Given the description of an element on the screen output the (x, y) to click on. 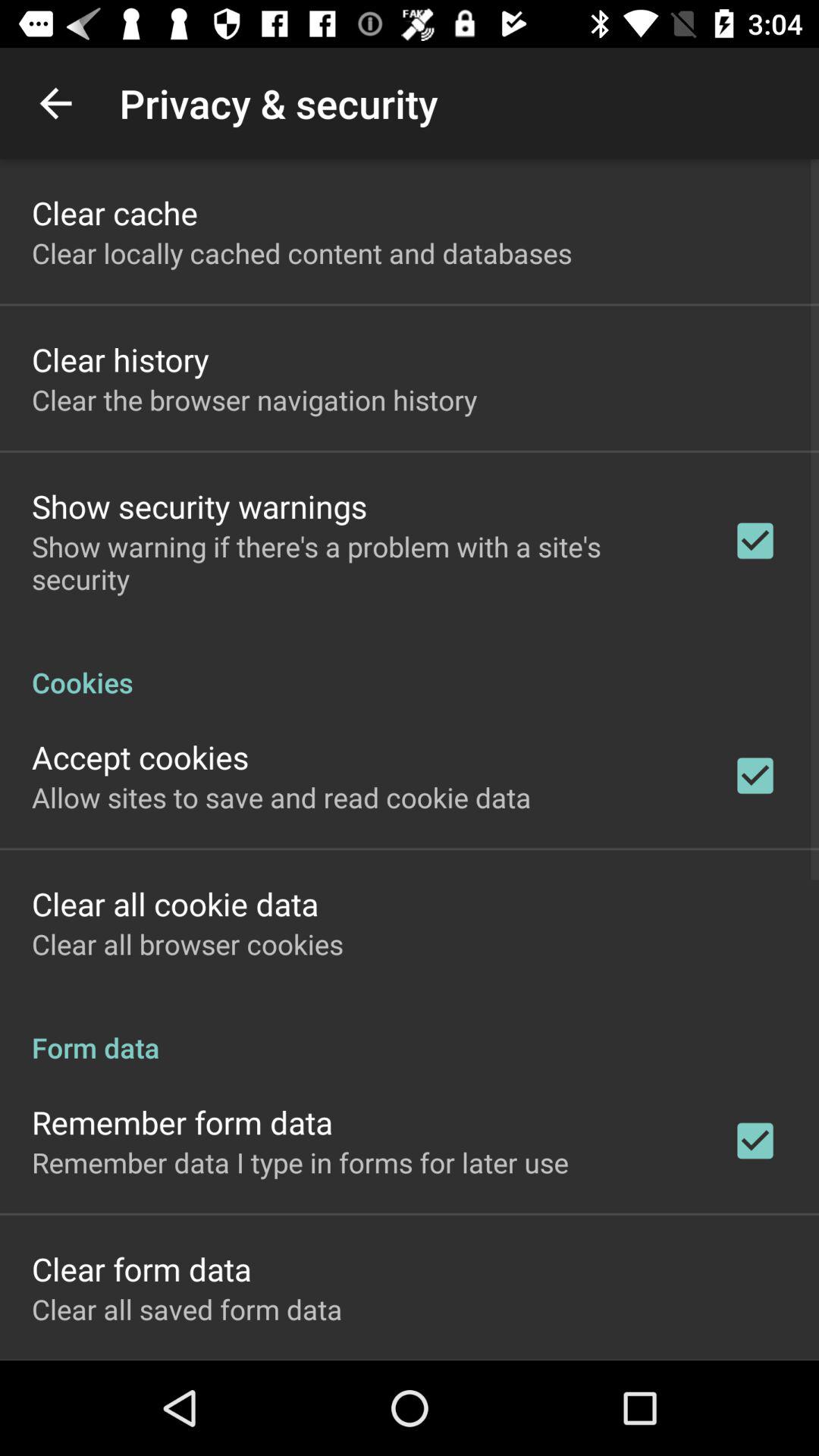
click allow sites to (281, 797)
